Given the description of an element on the screen output the (x, y) to click on. 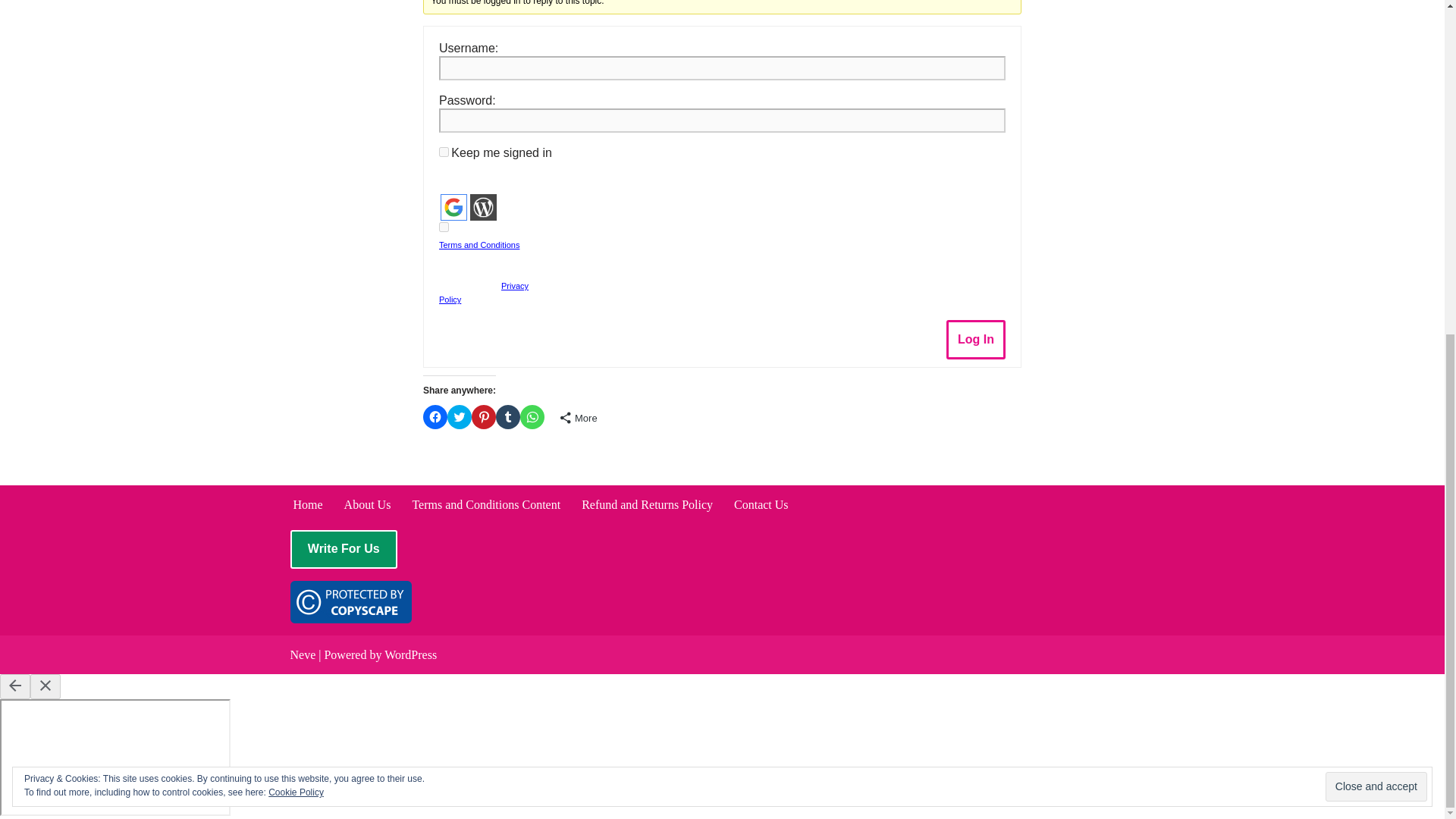
Click to share on Twitter (458, 416)
forever (443, 152)
Click to share on Facebook (434, 416)
Click to share on Tumblr (507, 416)
Close and accept (1375, 228)
Login with Wordpress (483, 207)
1 (443, 226)
Click to share on Pinterest (483, 416)
Login with Google (454, 207)
Click to share on WhatsApp (531, 416)
